Given the description of an element on the screen output the (x, y) to click on. 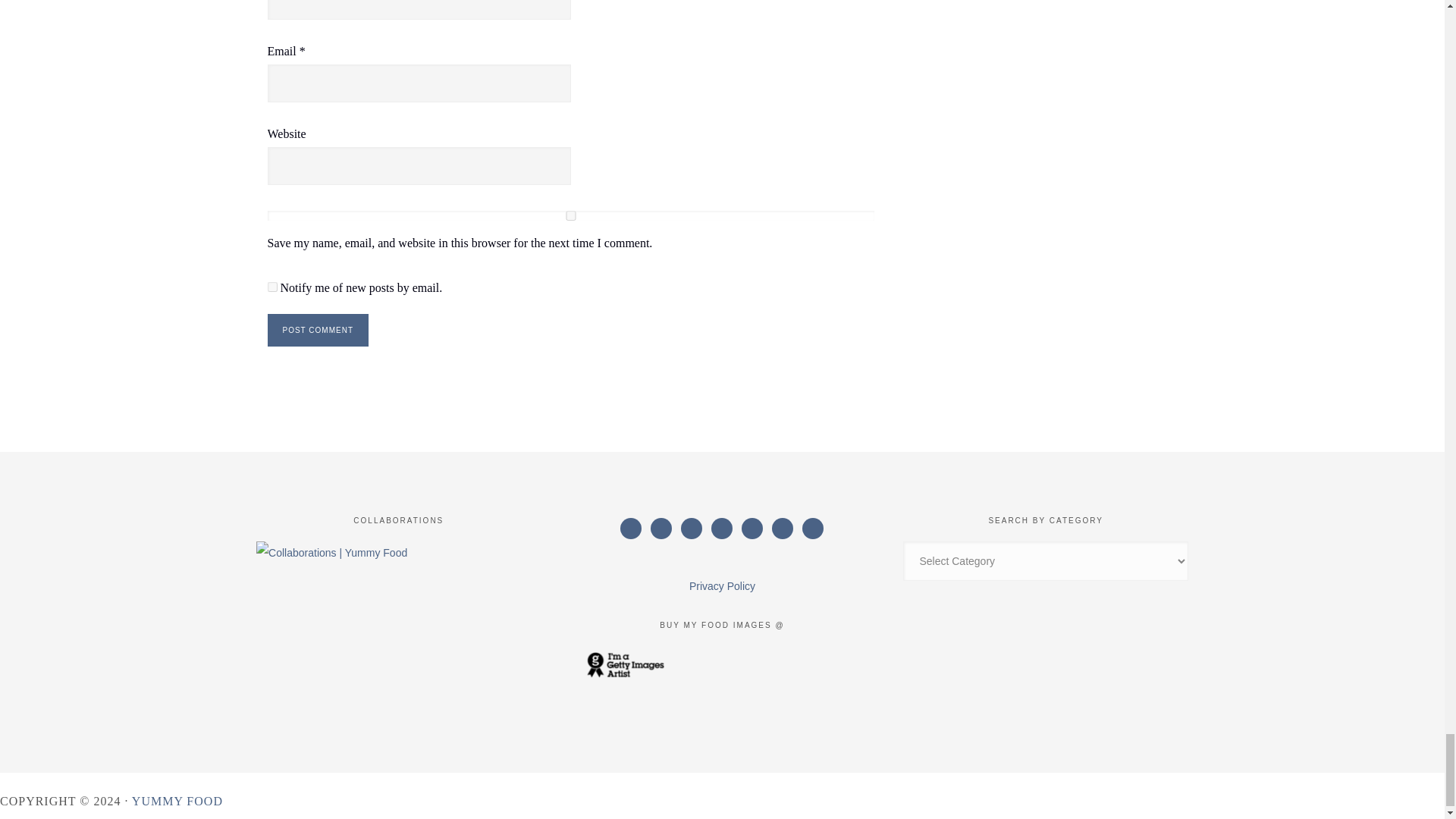
Post Comment (317, 329)
subscribe (271, 286)
yes (569, 215)
